Given the description of an element on the screen output the (x, y) to click on. 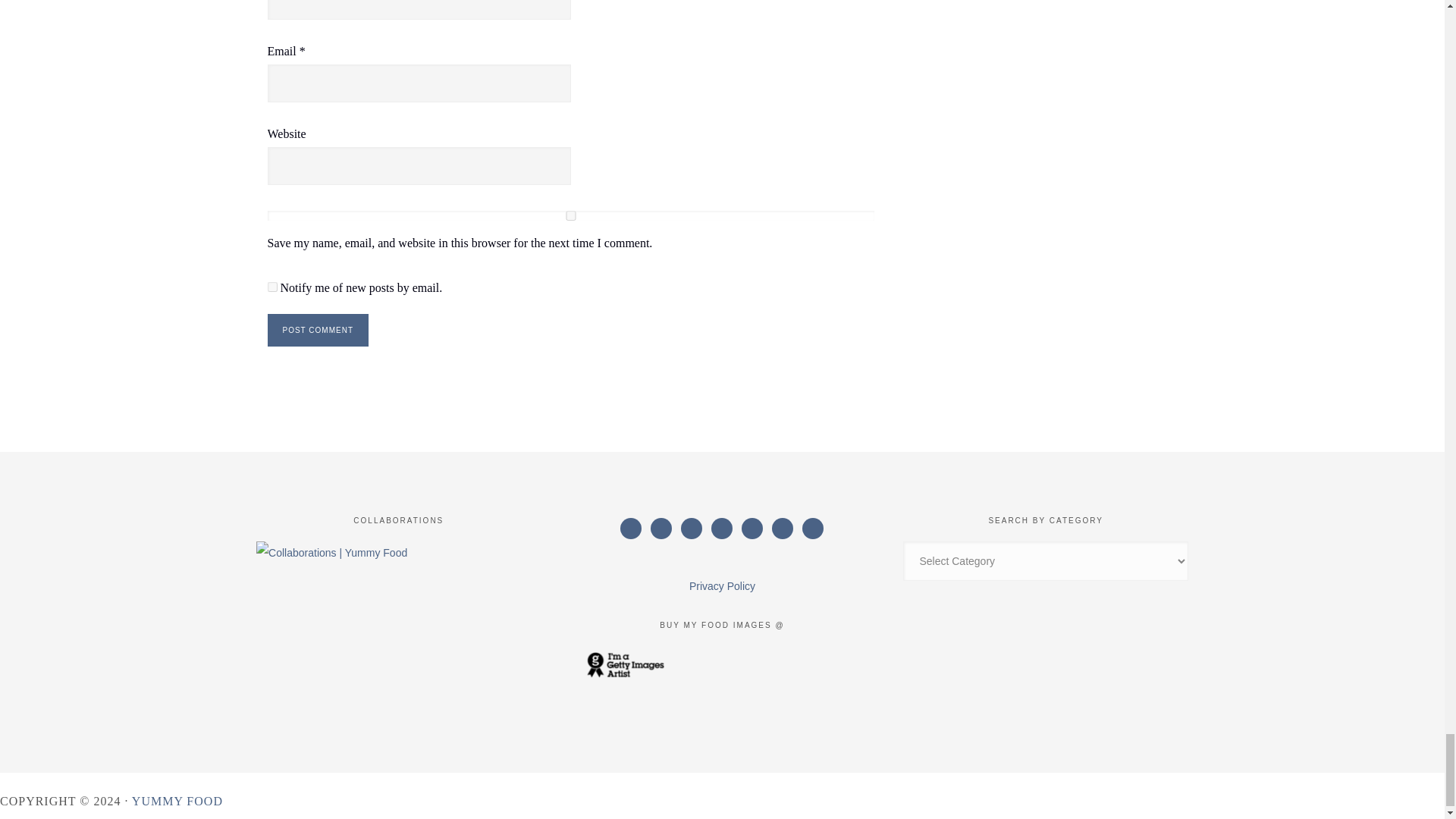
Post Comment (317, 329)
subscribe (271, 286)
yes (569, 215)
